Given the description of an element on the screen output the (x, y) to click on. 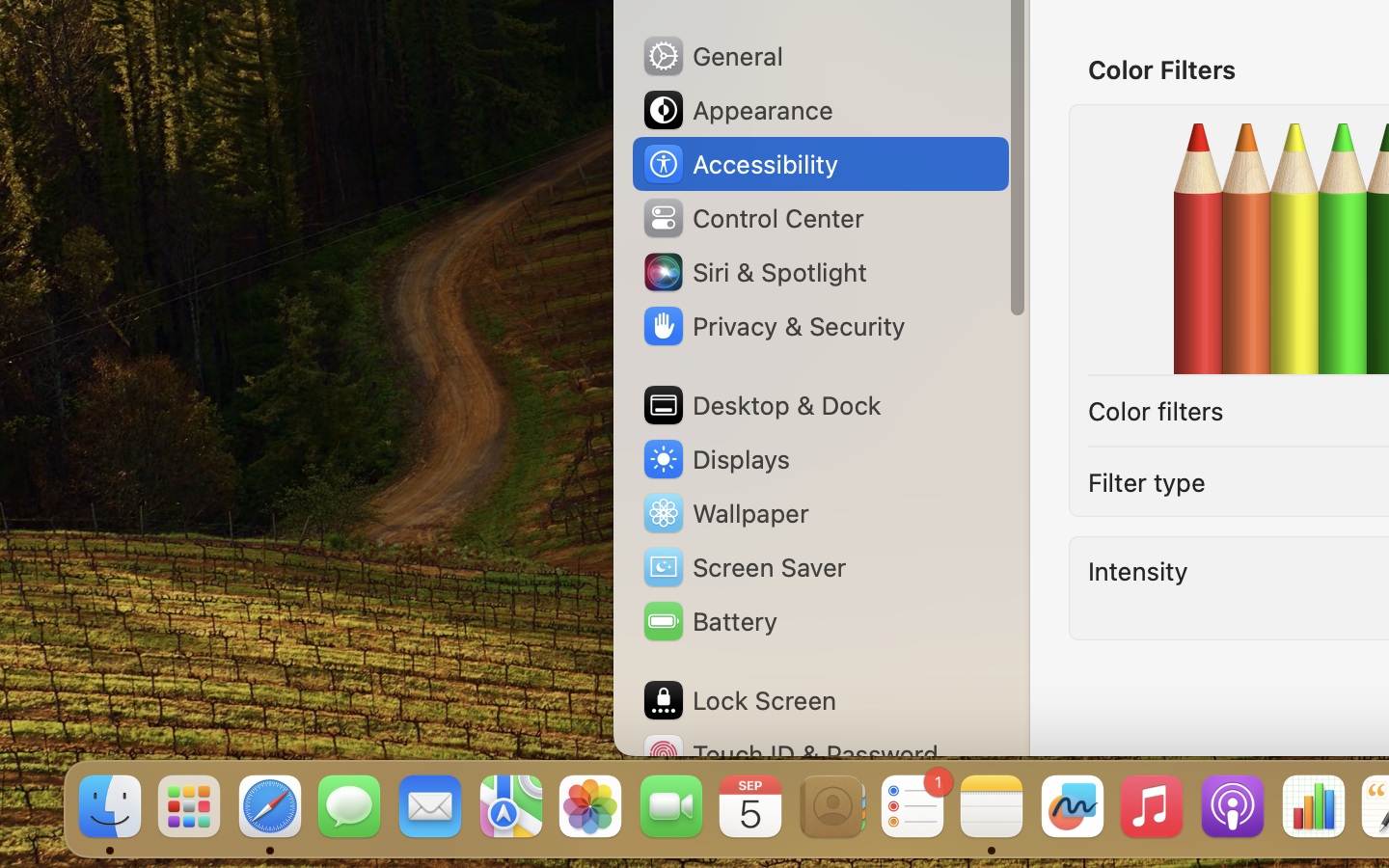
Displays Element type: AXStaticText (715, 458)
Accessibility Element type: AXStaticText (739, 163)
Touch ID & Password Element type: AXStaticText (789, 754)
Wallpaper Element type: AXStaticText (724, 512)
Lock Screen Element type: AXStaticText (738, 700)
